Given the description of an element on the screen output the (x, y) to click on. 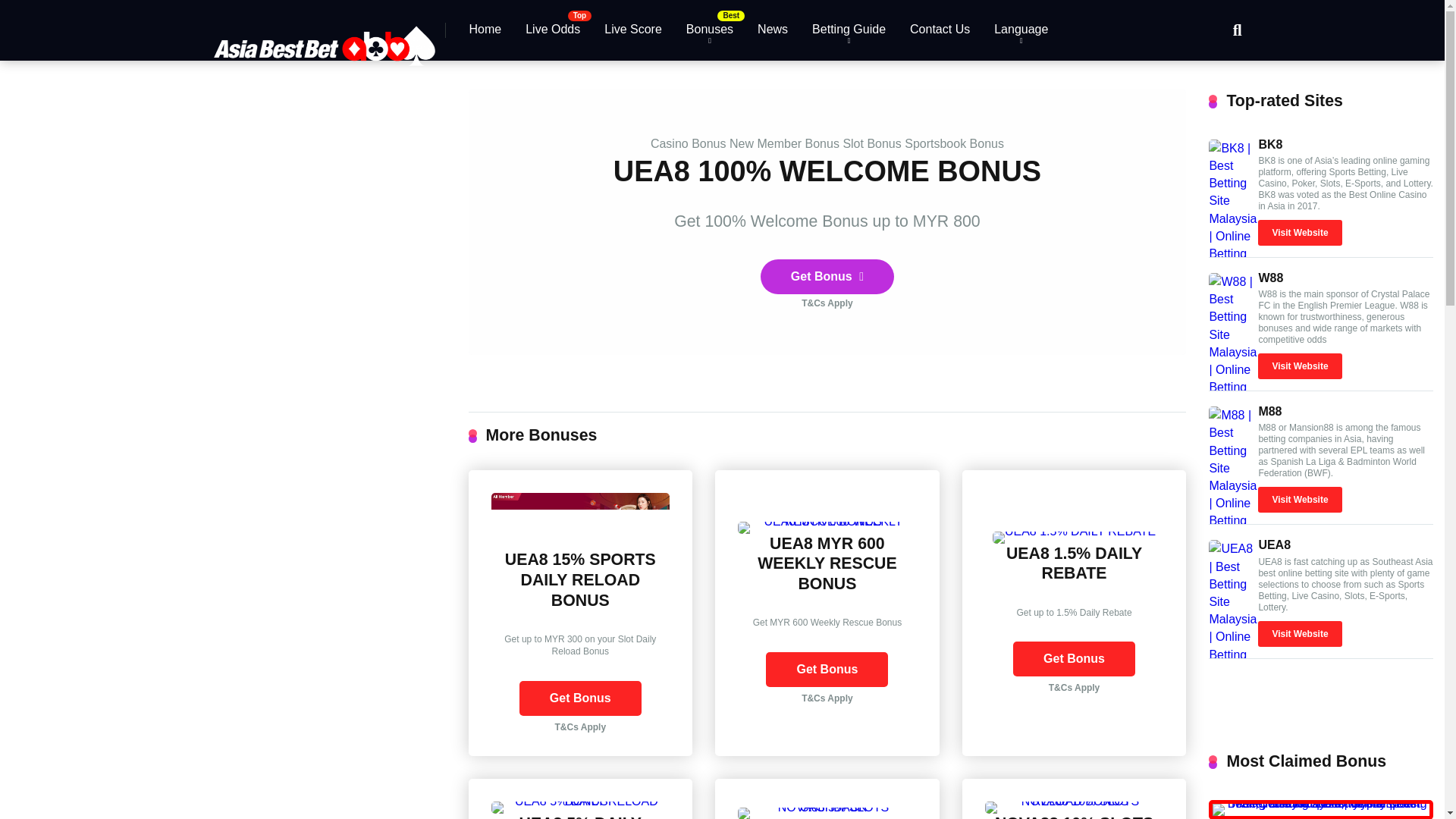
Sportsbook Bonus (954, 143)
Get Bonus (580, 697)
Casino Bonus (688, 143)
News (772, 30)
Get Bonus (826, 669)
Language (1020, 30)
Contact Us (939, 30)
Betting Guide (848, 30)
Get Bonus (826, 669)
New Member Bonus (784, 143)
